Given the description of an element on the screen output the (x, y) to click on. 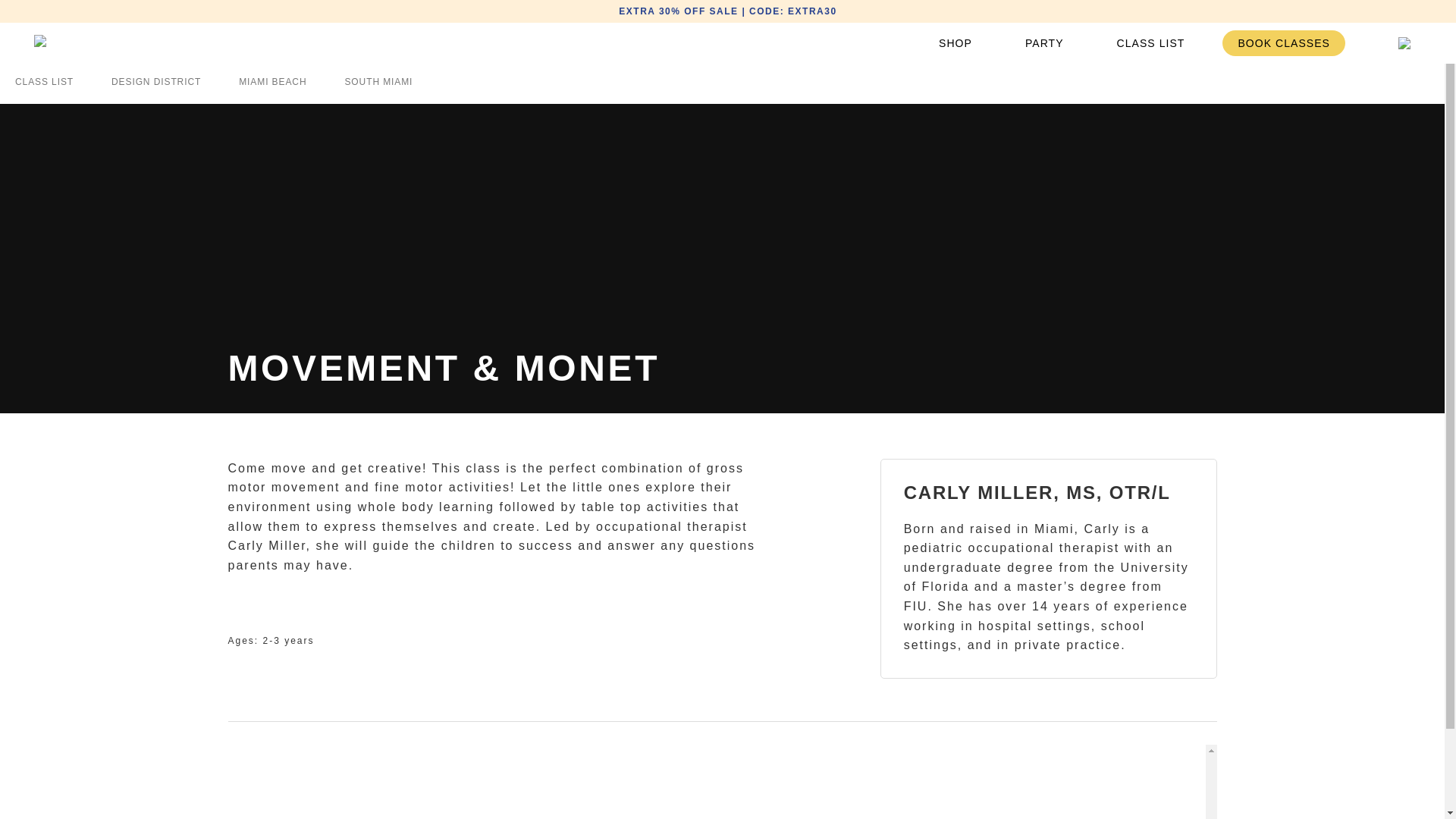
CLASS LIST (1150, 43)
SHOP (955, 43)
PARTY (1044, 43)
